Given the description of an element on the screen output the (x, y) to click on. 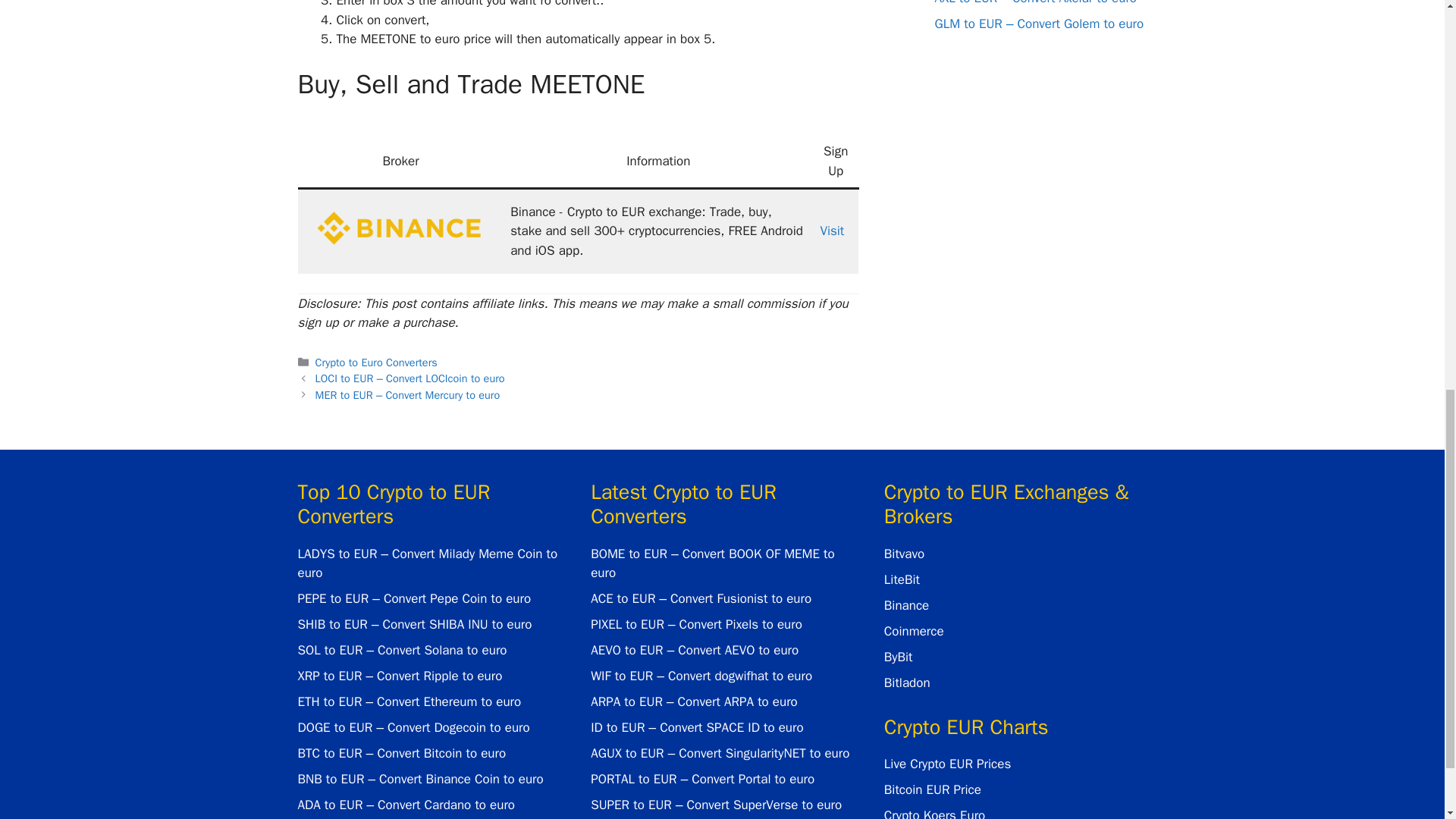
Crypto to Euro Converters (376, 362)
Visit (831, 230)
MEETONE to EUR - Convert MEETONE to euro (400, 228)
